Given the description of an element on the screen output the (x, y) to click on. 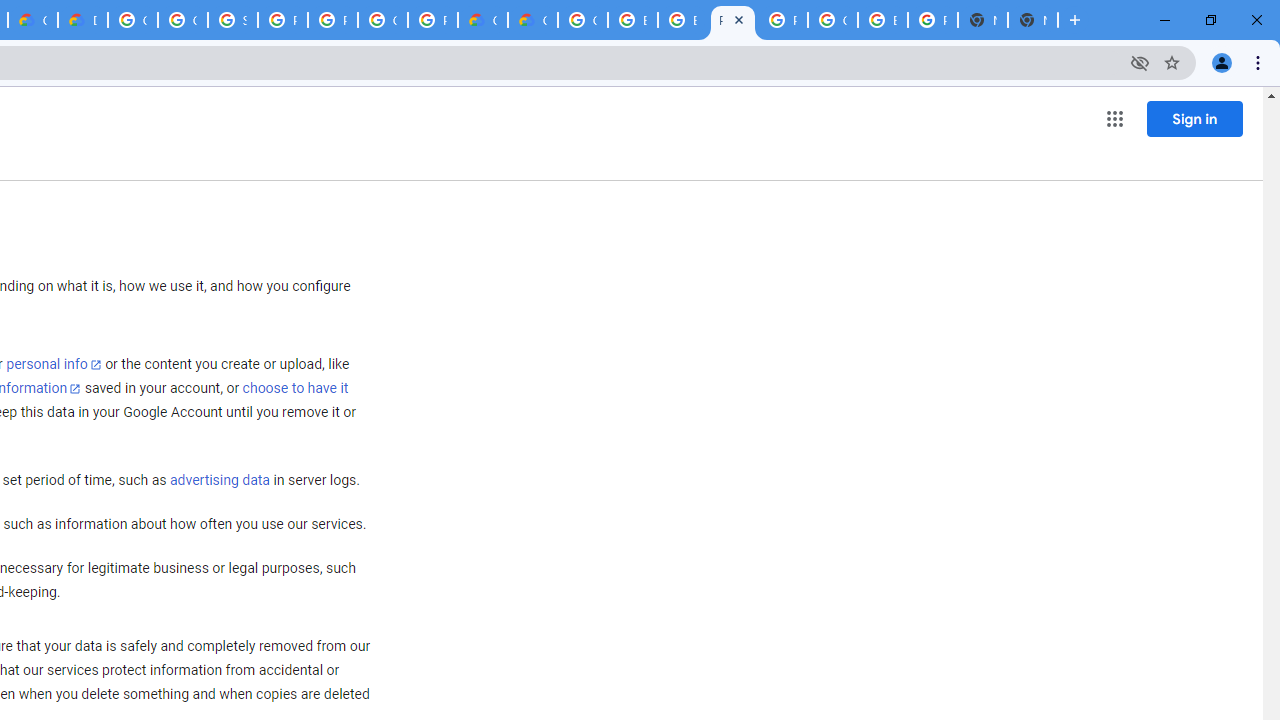
advertising data (219, 481)
personal info (54, 364)
Google Cloud Platform (582, 20)
Google Cloud Platform (383, 20)
Google Cloud Platform (132, 20)
Customer Care | Google Cloud (483, 20)
